Given the description of an element on the screen output the (x, y) to click on. 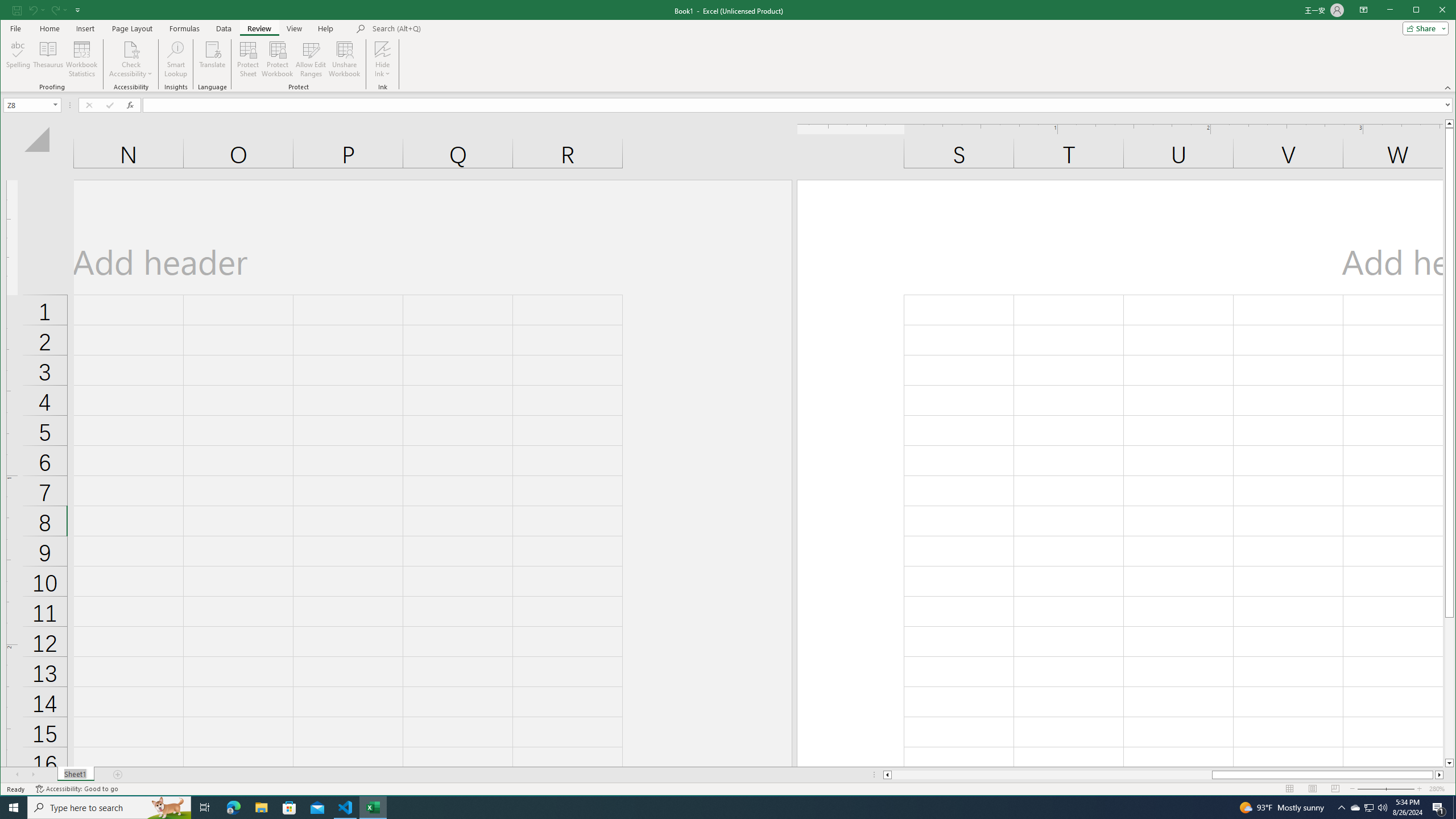
Help (325, 28)
Column right (1439, 774)
Page down (1449, 687)
Formulas (184, 28)
View (1355, 807)
Type here to search (294, 28)
Smart Lookup (108, 807)
Name Box (176, 59)
System (27, 104)
Notification Chevron (10, 10)
Workbook Statistics (1341, 807)
Allow Edit Ranges (82, 59)
Microsoft Edge (310, 59)
